Given the description of an element on the screen output the (x, y) to click on. 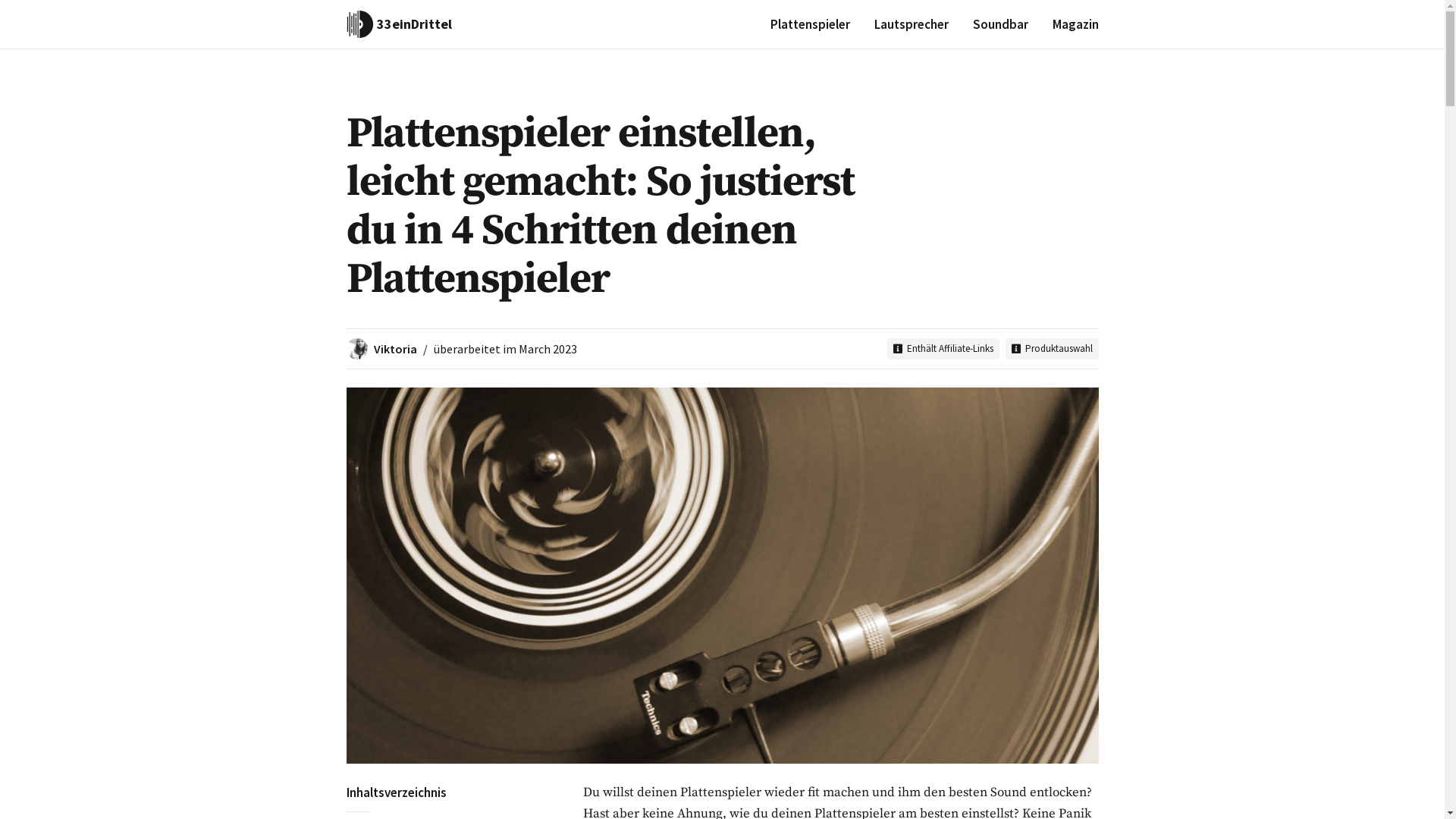
Lautsprecher Element type: text (910, 24)
Produktauswahl Element type: text (1051, 348)
33einDrittel Element type: text (398, 24)
Soundbar Element type: text (999, 24)
Plattenspieler Element type: text (810, 24)
Inhaltsverzeichnis Element type: text (436, 792)
Magazin Element type: text (1075, 24)
